Given the description of an element on the screen output the (x, y) to click on. 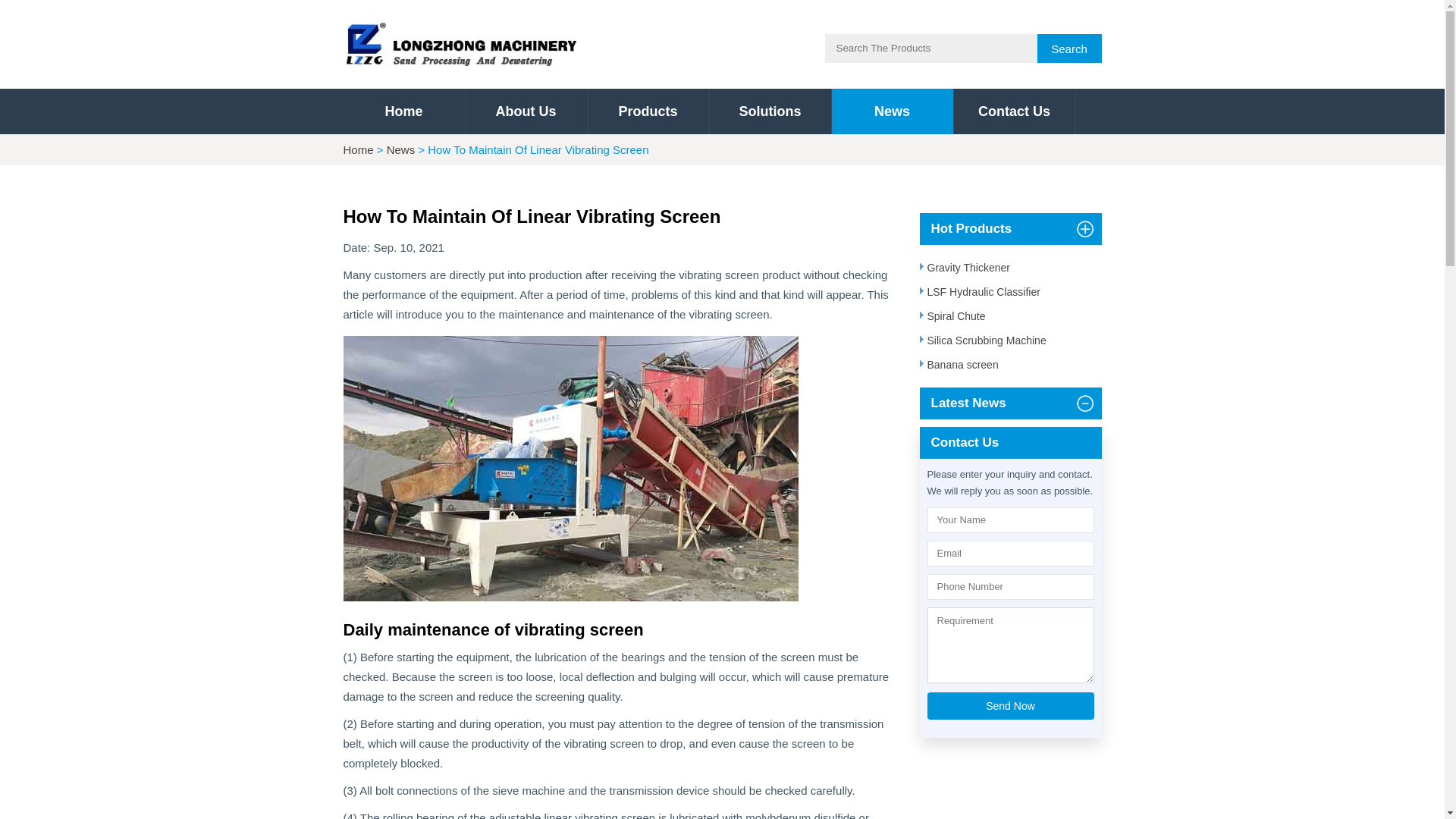
Spiral Chute (1009, 316)
Search (1069, 48)
Contact Us (1014, 111)
Search (930, 48)
Banana screen (1009, 364)
LSF Hydraulic Classifier (1009, 291)
Banana screen (1009, 364)
Products (646, 111)
News (400, 149)
Silica Scrubbing Machine (1009, 340)
Gravity Thickener (1009, 267)
Gravity Thickener (1009, 267)
Home (357, 149)
News (891, 111)
About Us (525, 111)
